Given the description of an element on the screen output the (x, y) to click on. 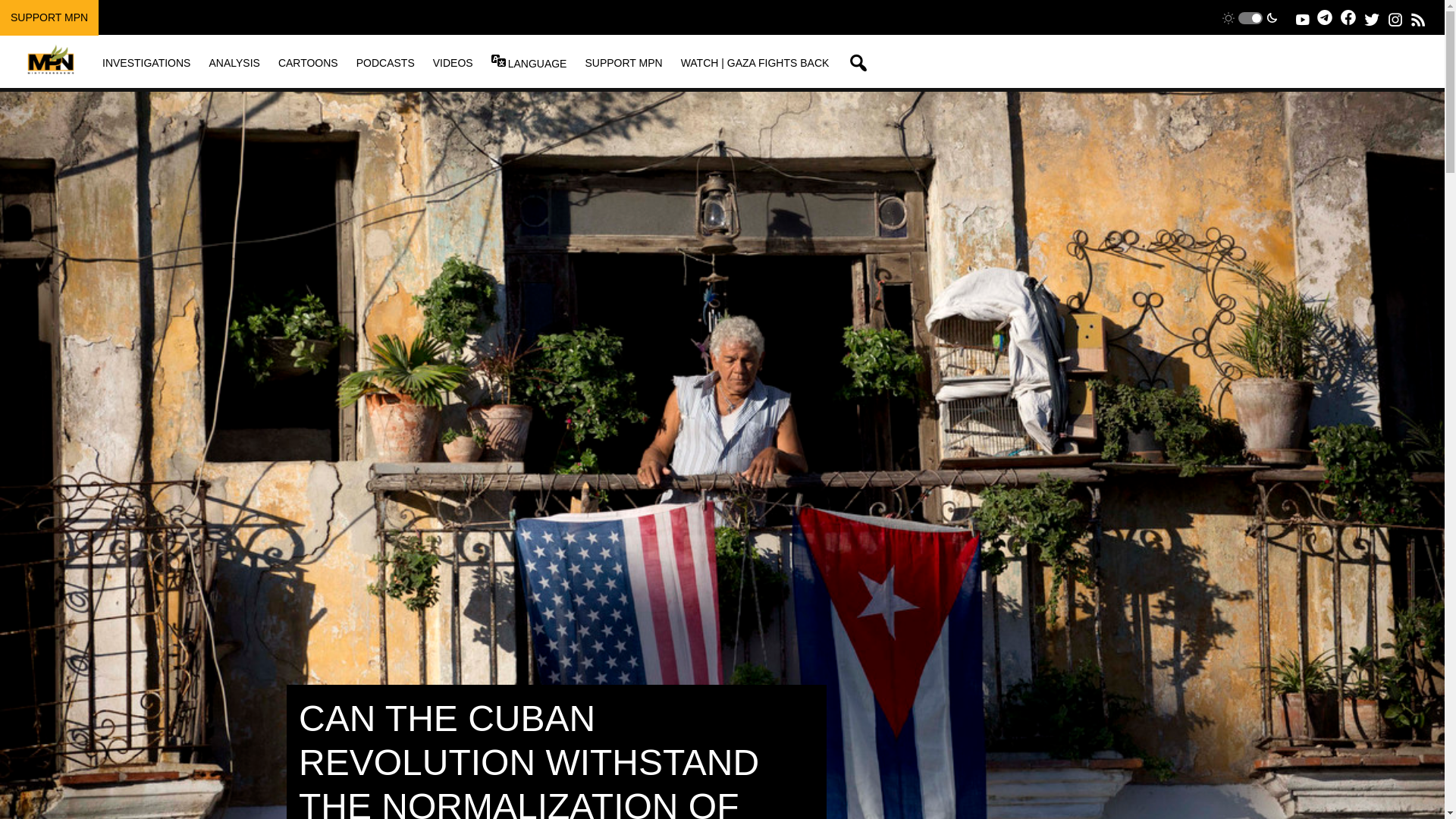
INVESTIGATIONS (145, 62)
LANGUAGE (536, 63)
VIDEOS (452, 62)
PODCASTS (385, 62)
CARTOONS (307, 62)
SUPPORT MPN (48, 17)
ANALYSIS (233, 62)
SUPPORT MPN (623, 62)
